Given the description of an element on the screen output the (x, y) to click on. 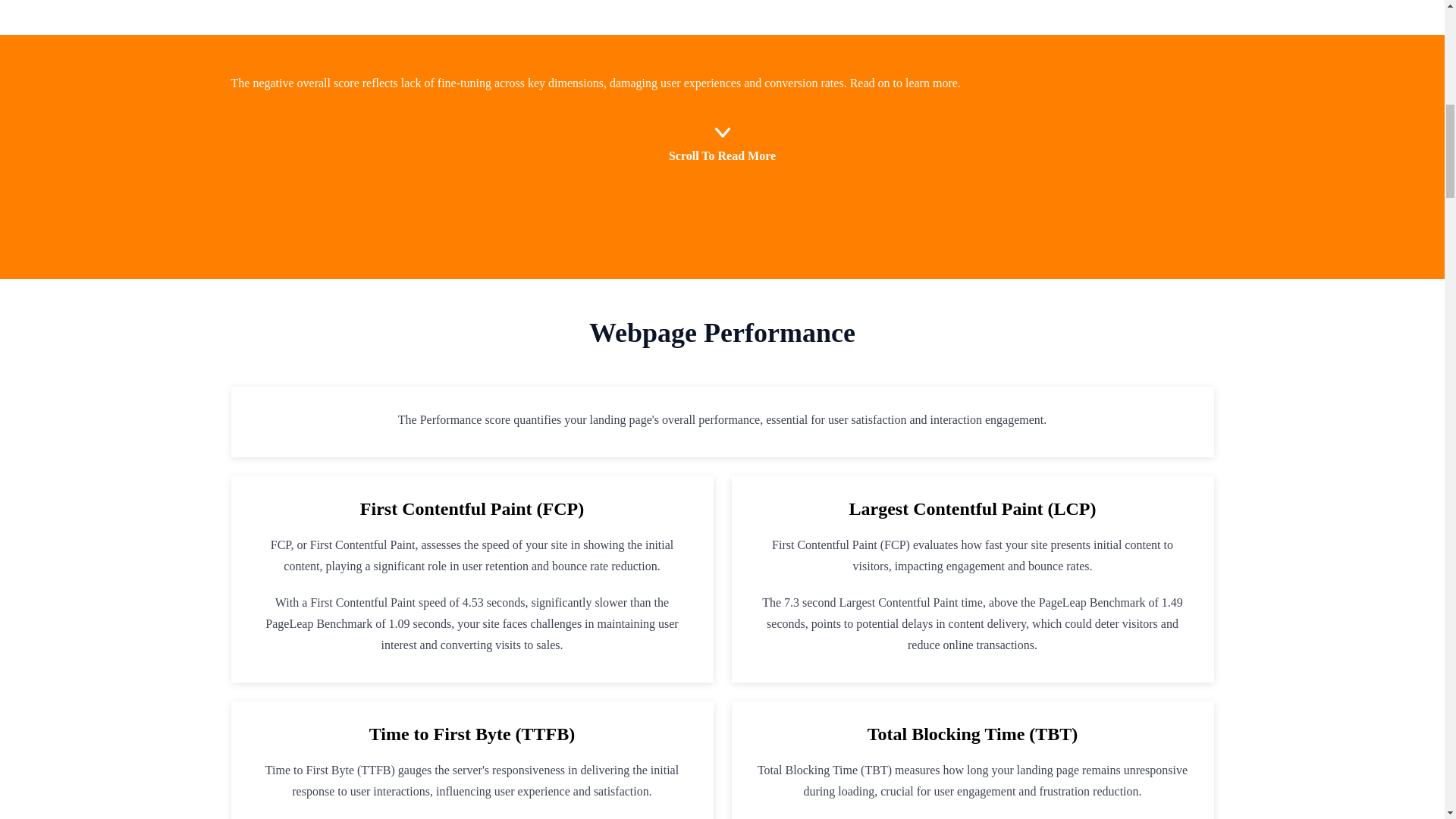
Scroll To Read More (722, 143)
Scroll To Read More (721, 135)
